Given the description of an element on the screen output the (x, y) to click on. 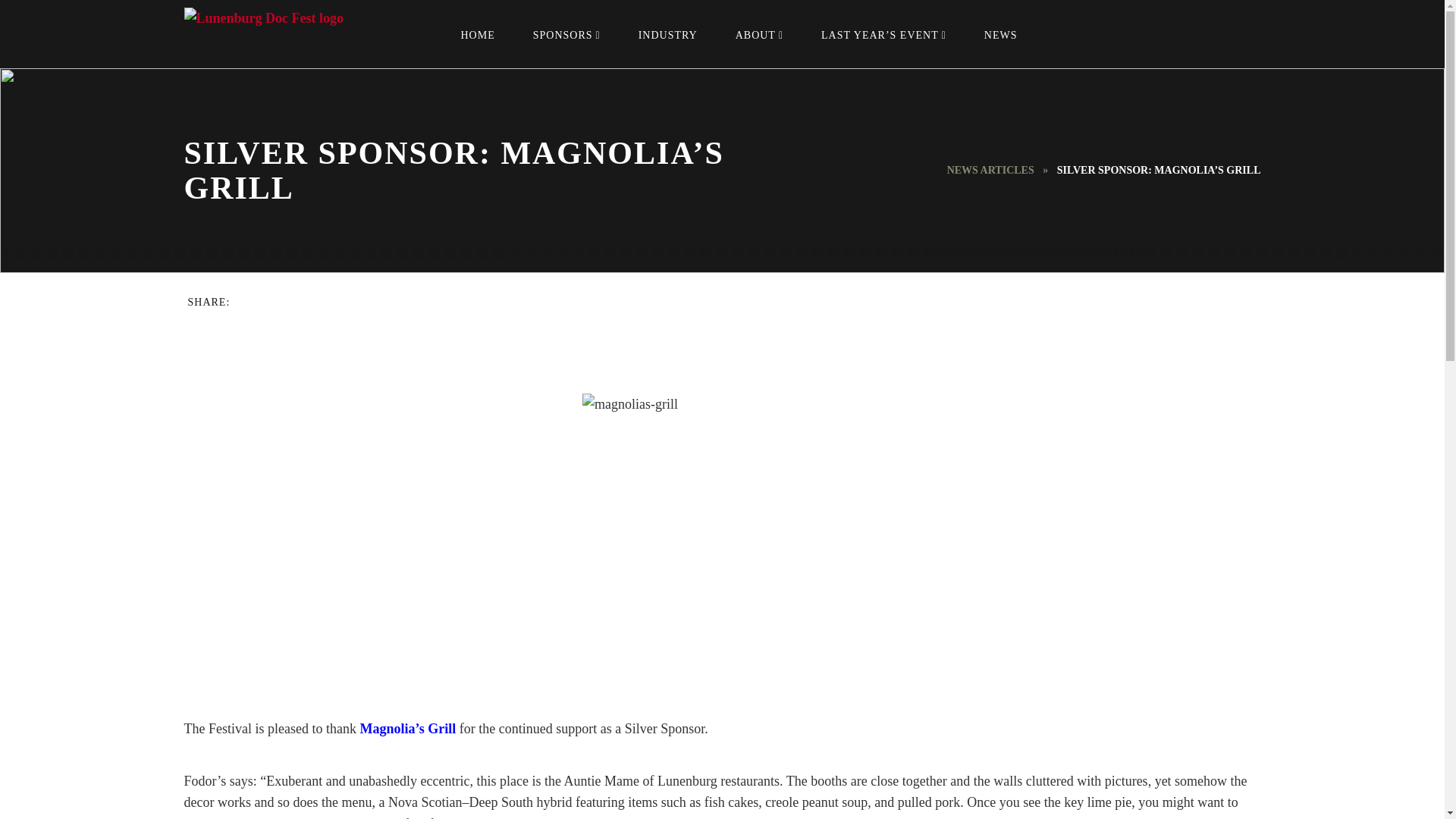
INDUSTRY (668, 33)
ABOUT (759, 33)
NEWS ARTICLES (990, 170)
HOME (477, 33)
SPONSORS (566, 33)
NEWS (1000, 33)
